Given the description of an element on the screen output the (x, y) to click on. 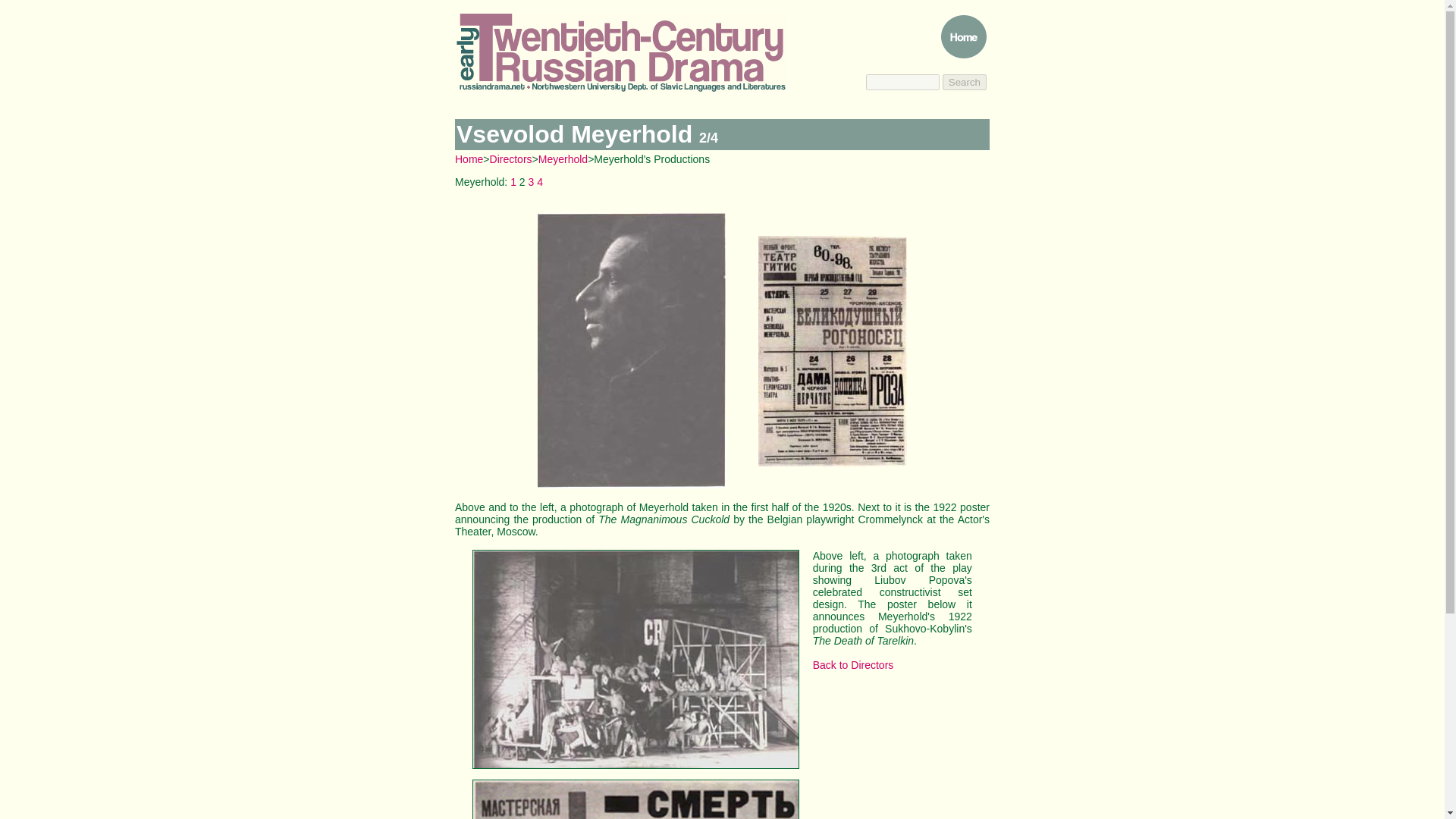
Meyerhold (563, 159)
Home (468, 159)
Search (964, 82)
Directors (510, 159)
Back to Directors (852, 664)
Search (964, 82)
